Given the description of an element on the screen output the (x, y) to click on. 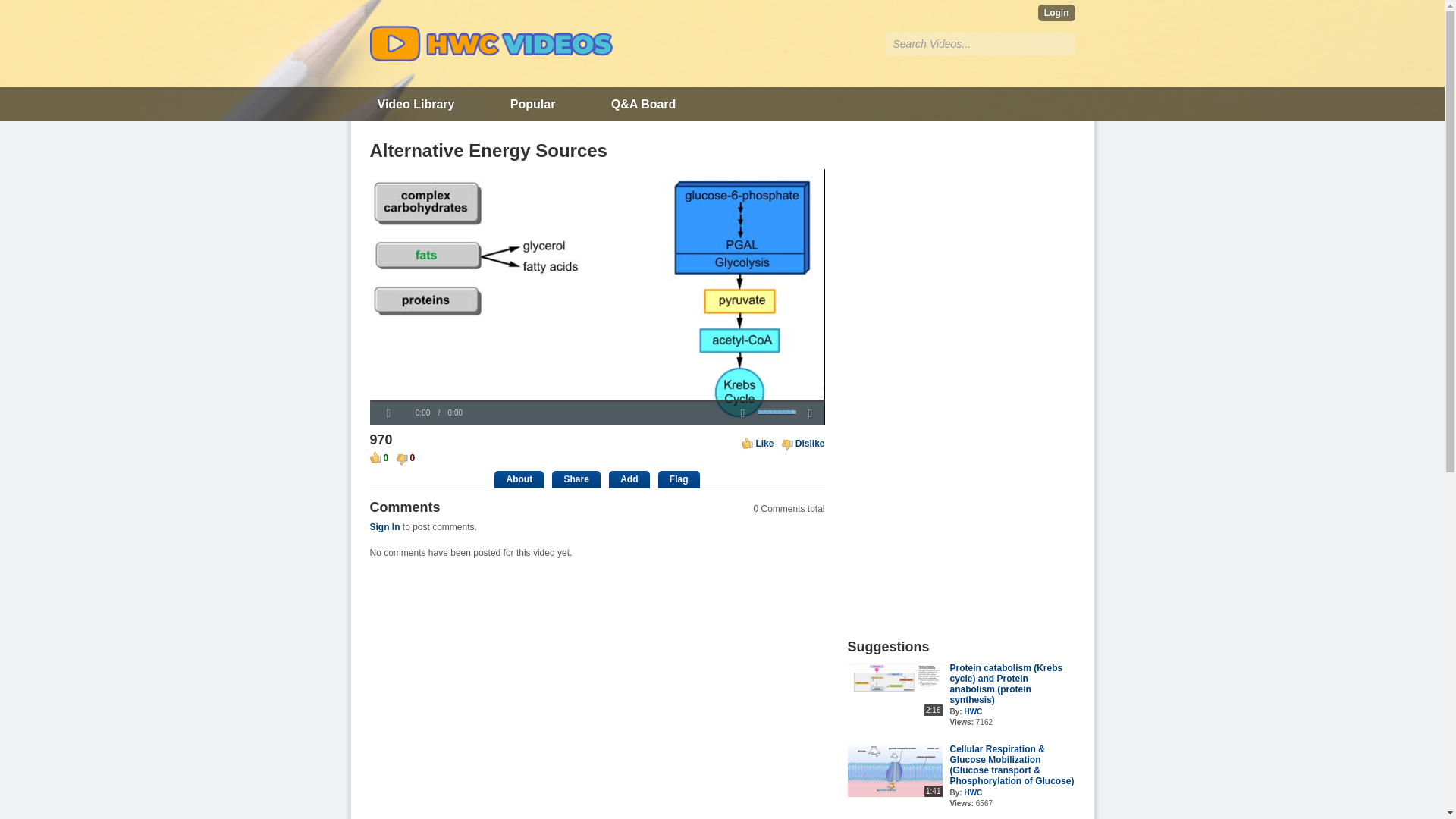
Add (628, 479)
About (519, 479)
Popular (532, 103)
Add (628, 479)
Login (1056, 12)
Like (757, 443)
Login (1056, 12)
Flag (679, 479)
Dislike (803, 443)
Dislike (803, 443)
